Given the description of an element on the screen output the (x, y) to click on. 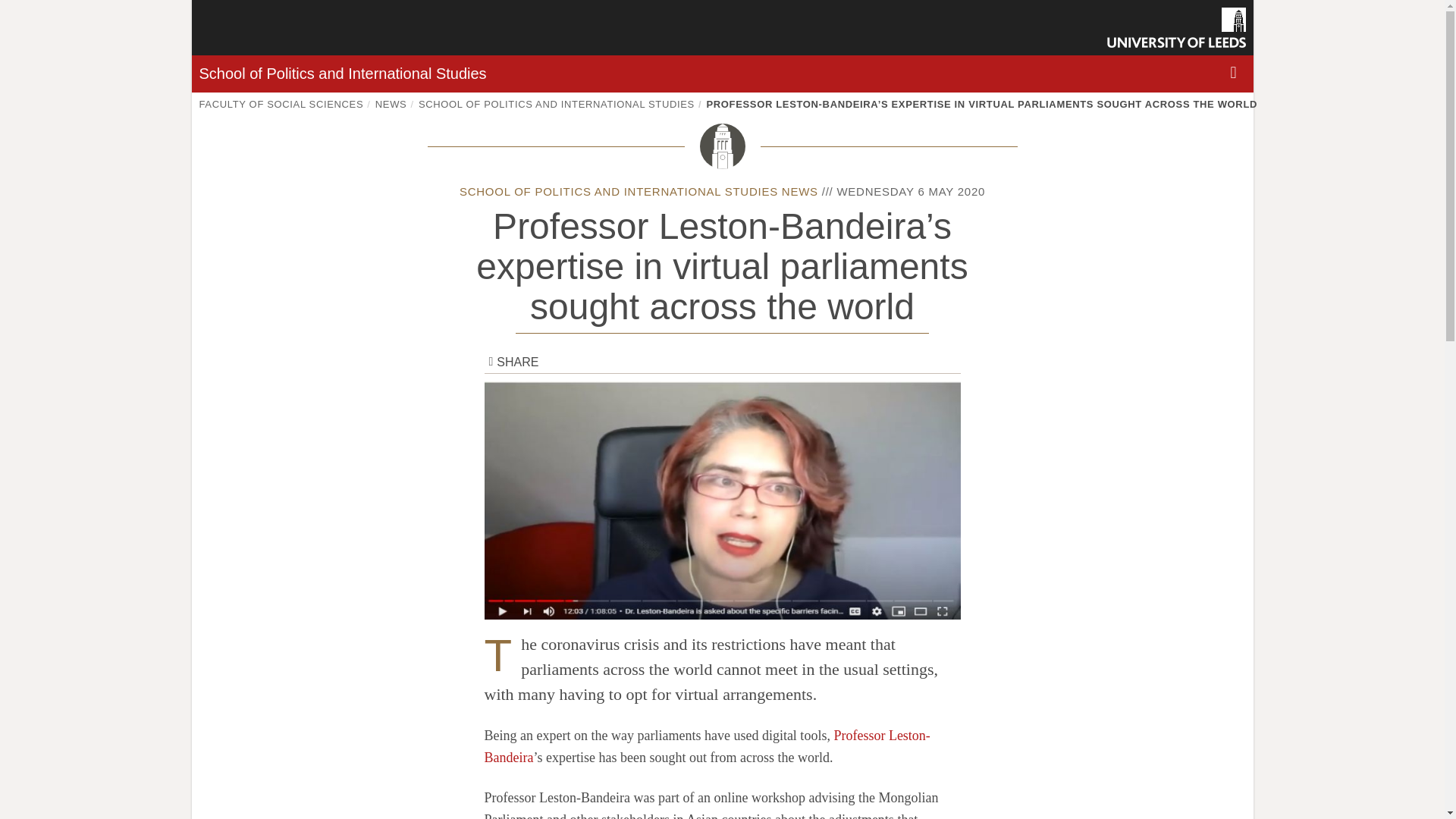
University of Leeds homepage (1176, 27)
NEWS (391, 103)
FACULTY OF SOCIAL SCIENCES (280, 103)
School of Politics and International Studies (342, 73)
SCHOOL OF POLITICS AND INTERNATIONAL STUDIES NEWS (639, 191)
SHARE (513, 362)
Professor Leston-Bandeira (706, 746)
SCHOOL OF POLITICS AND INTERNATIONAL STUDIES (556, 103)
